Given the description of an element on the screen output the (x, y) to click on. 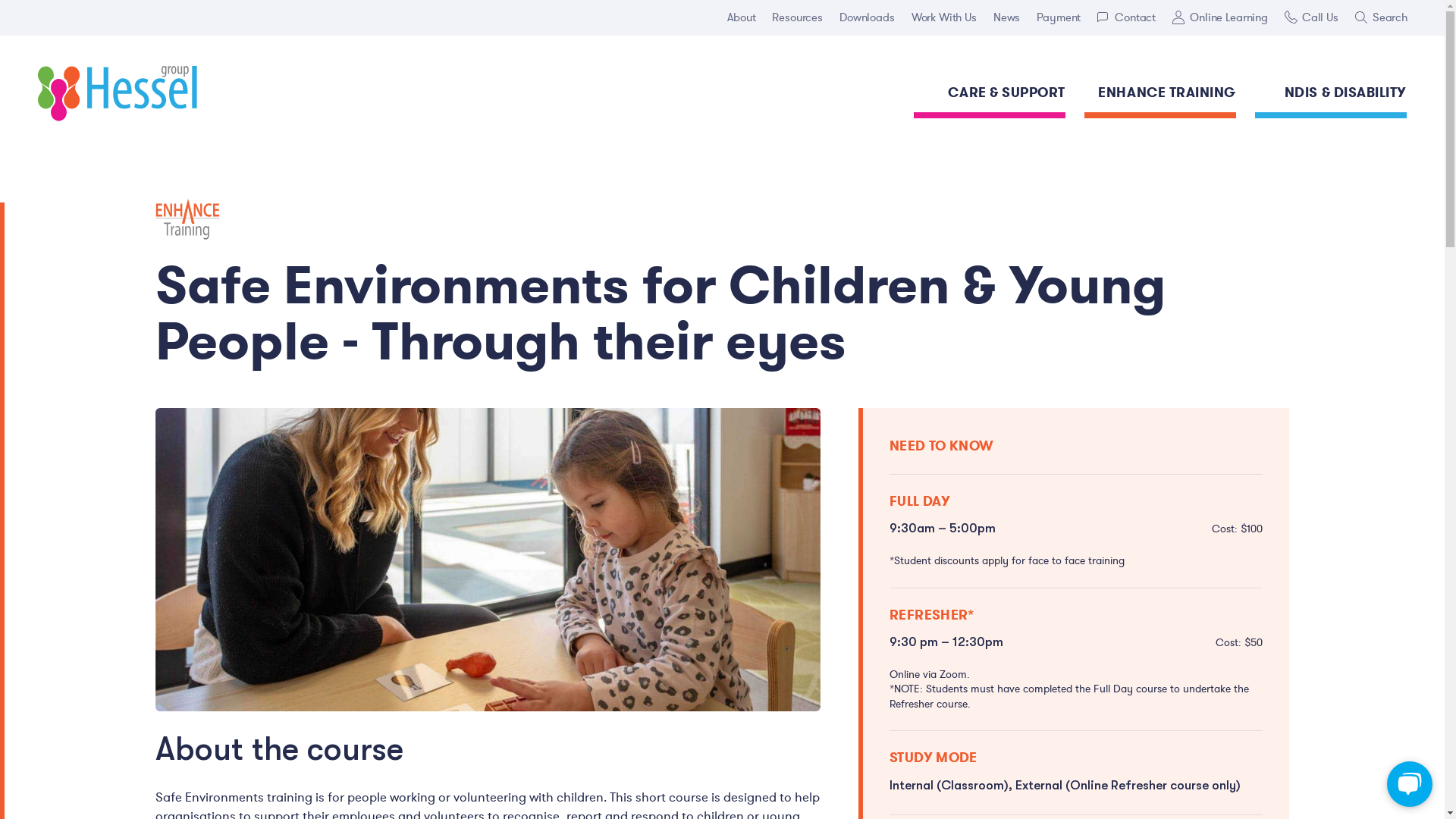
CARE & SUPPORT Element type: text (989, 96)
NDIS & DISABILITY Element type: text (1330, 96)
Payment Element type: text (1058, 17)
Online Learning Element type: text (1219, 17)
ENHANCE TRAINING Element type: text (1160, 96)
Call Us Element type: text (1311, 17)
Contact Element type: text (1126, 17)
Search Element type: text (1381, 17)
About Element type: text (741, 17)
Resources Element type: text (797, 17)
Downloads Element type: text (866, 17)
Work With Us Element type: text (943, 17)
News Element type: text (1006, 17)
